Given the description of an element on the screen output the (x, y) to click on. 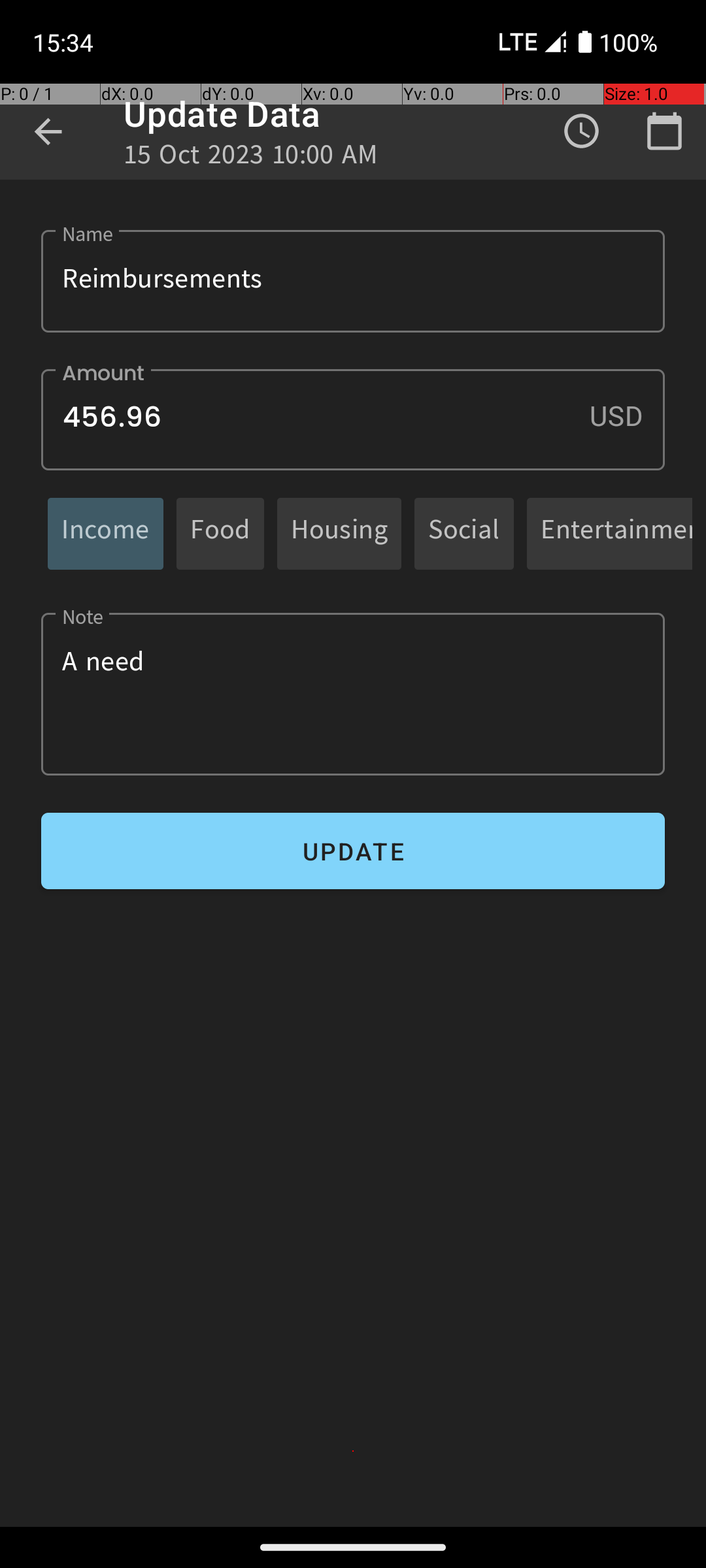
15 Oct 2023 10:00 AM Element type: android.widget.TextView (250, 157)
Reimbursements Element type: android.widget.EditText (352, 280)
456.96 Element type: android.widget.EditText (352, 419)
